Given the description of an element on the screen output the (x, y) to click on. 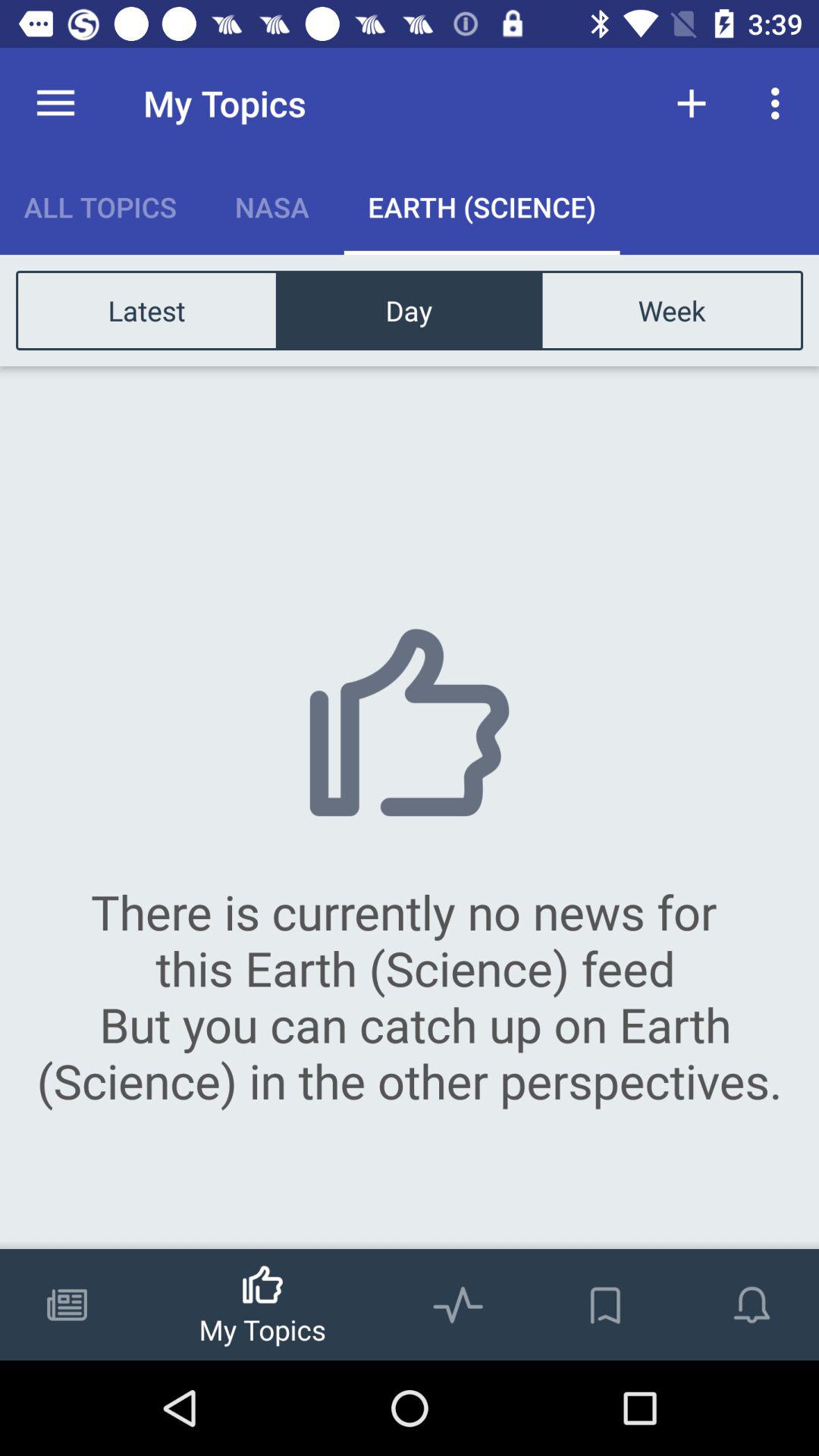
tap icon below all topics icon (146, 310)
